Given the description of an element on the screen output the (x, y) to click on. 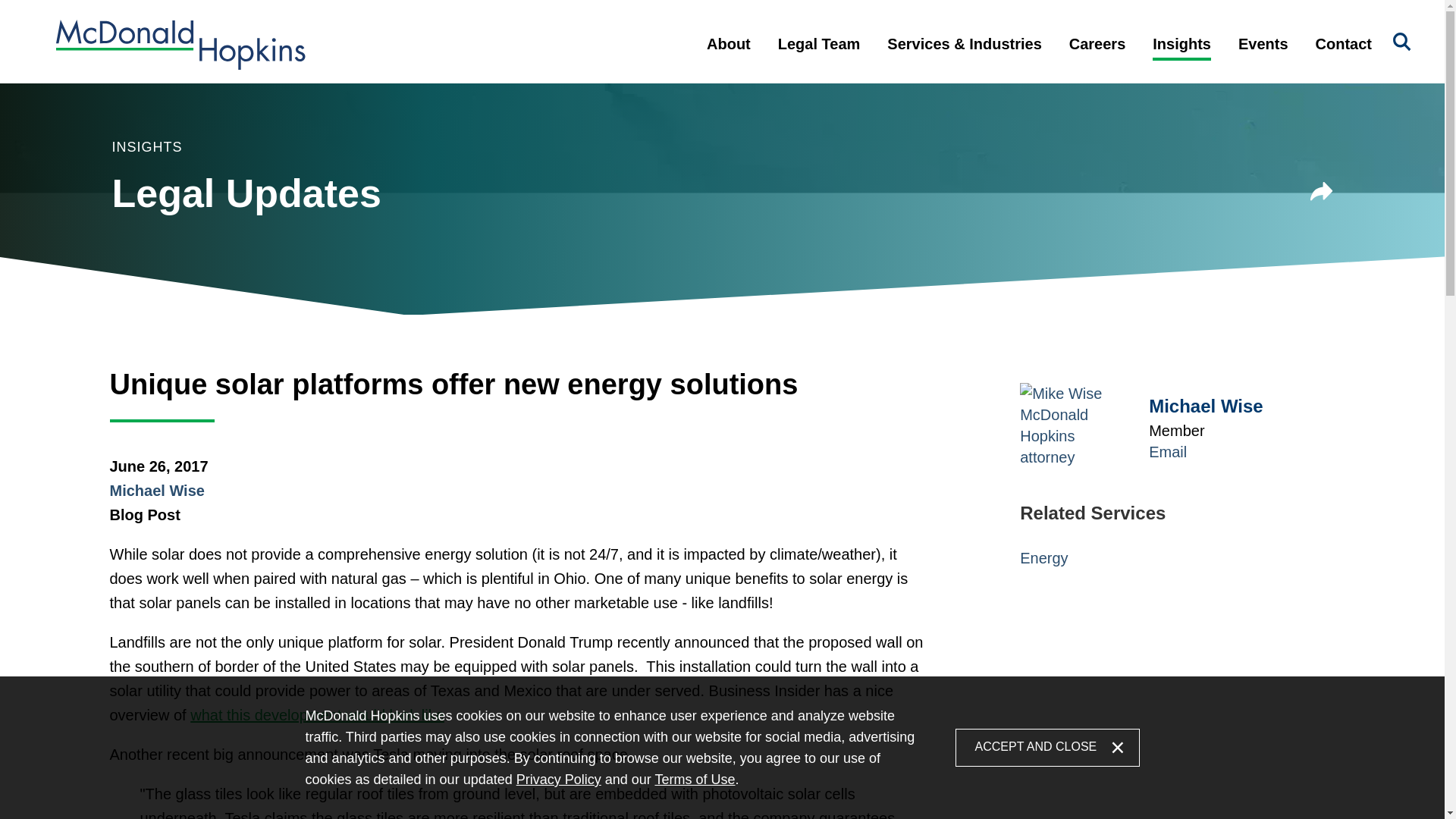
Insights (1181, 55)
Legal Team (819, 55)
Search (1401, 41)
Contact (1343, 55)
Main Menu (673, 20)
Events (1262, 55)
Careers (1097, 55)
Share (1321, 190)
Share (1321, 194)
About (728, 55)
